Given the description of an element on the screen output the (x, y) to click on. 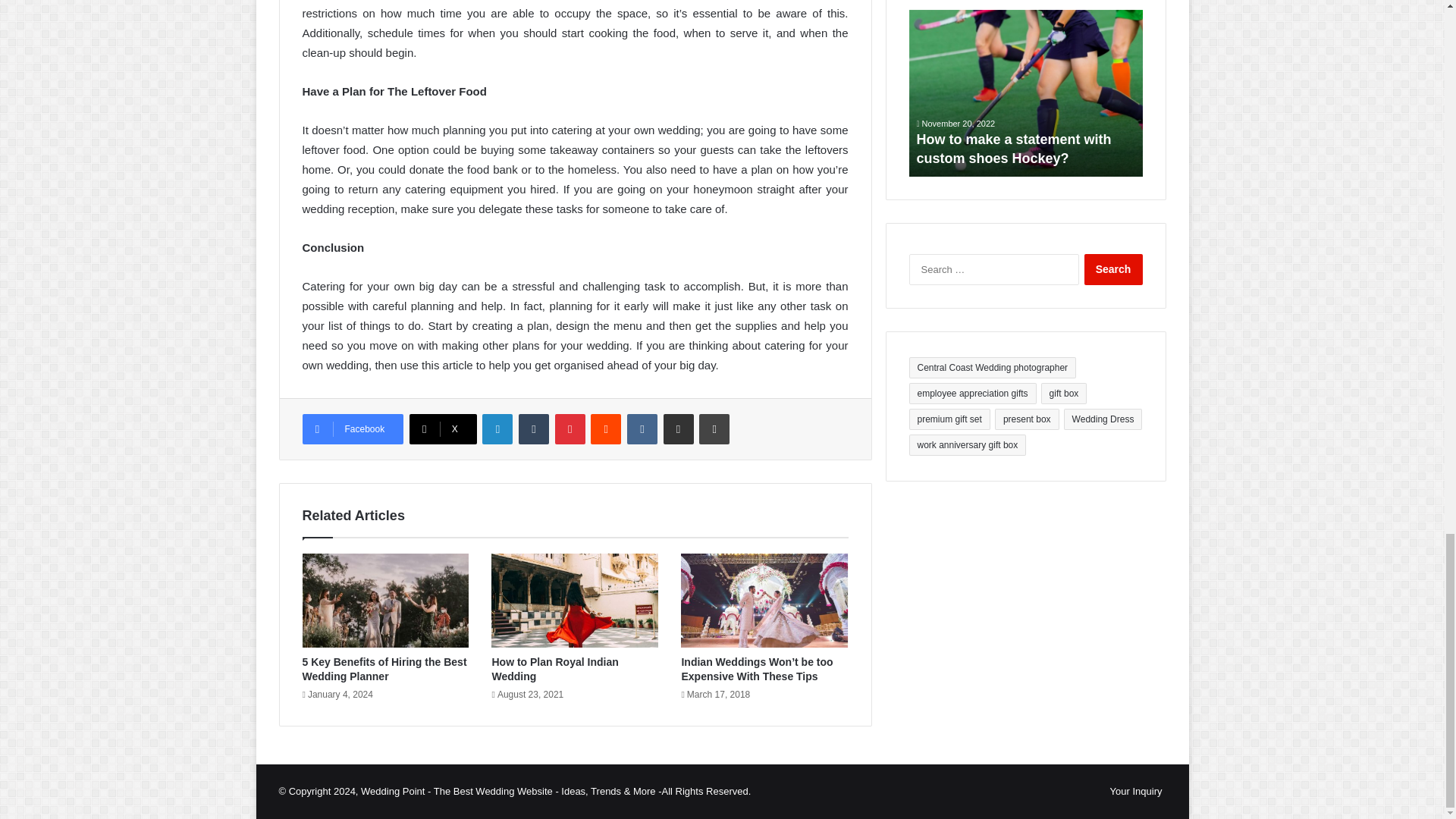
Search (1113, 269)
Pinterest (569, 429)
Facebook (352, 429)
Facebook (352, 429)
How to Plan Royal Indian Wedding (554, 669)
X (443, 429)
X (443, 429)
Share via Email (678, 429)
Tumblr (533, 429)
LinkedIn (496, 429)
Reddit (606, 429)
Share via Email (678, 429)
Search (1113, 269)
Reddit (606, 429)
Print (713, 429)
